Given the description of an element on the screen output the (x, y) to click on. 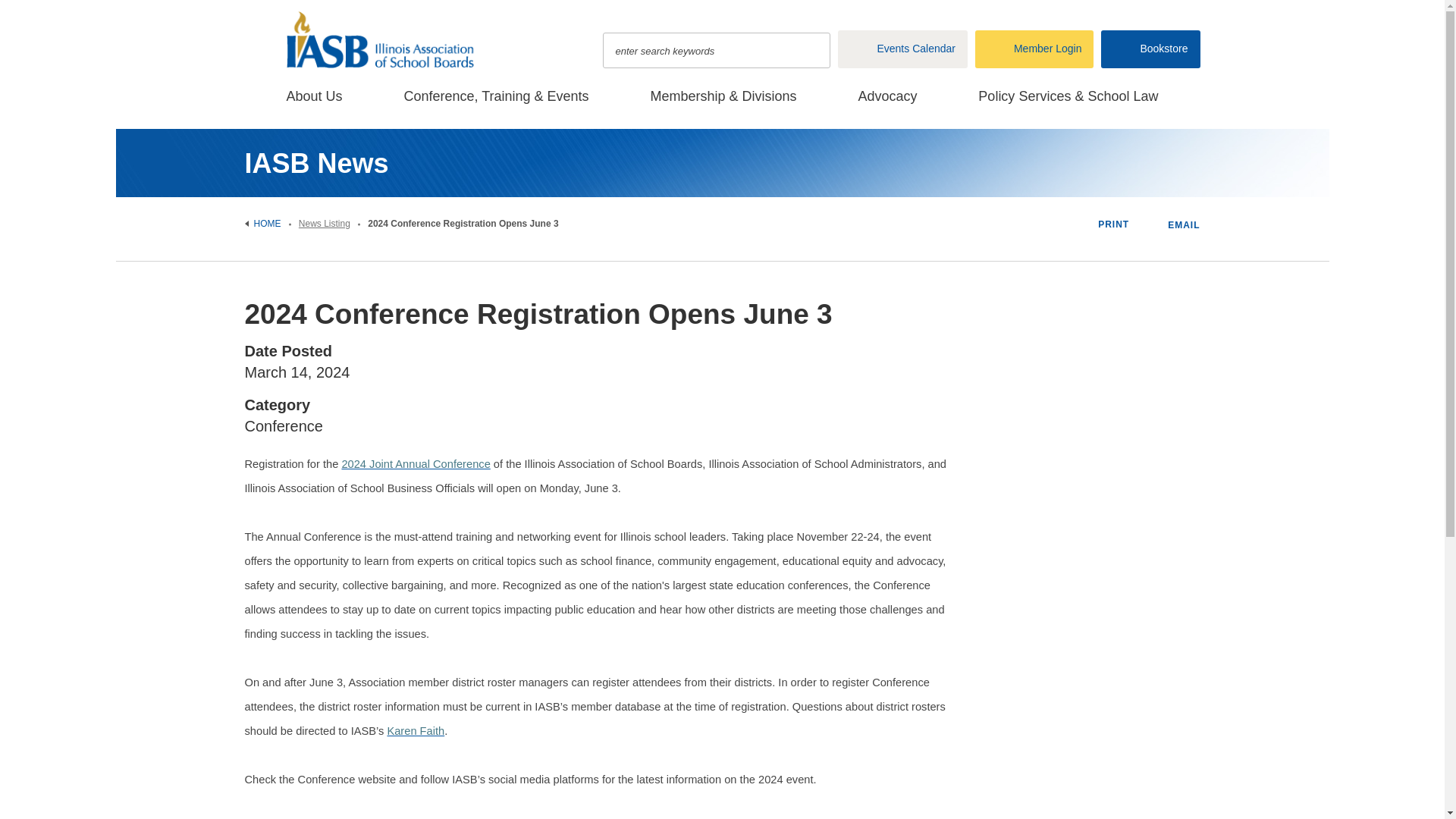
Submit search (810, 50)
Bookstore (1149, 48)
About Us (314, 103)
Illinois Association of School Boards (388, 39)
Events Calendar (903, 48)
Member Login (1034, 48)
